Given the description of an element on the screen output the (x, y) to click on. 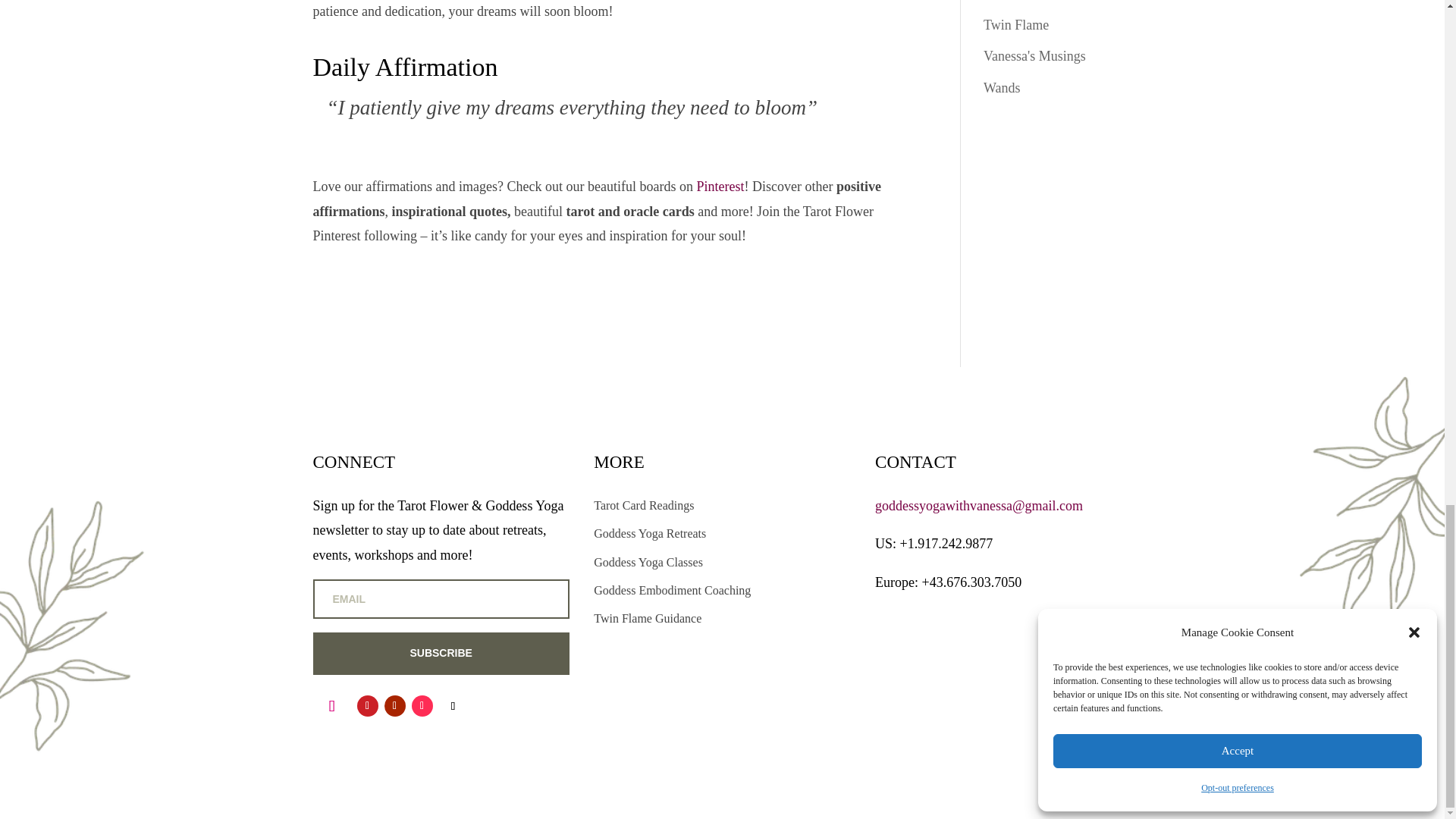
Follow on Instagram (331, 705)
Follow on TikTok (421, 705)
Follow on Facebook (452, 705)
Follow on Pinterest (366, 705)
Follow on Youtube (394, 705)
tarot flower logo (1003, 688)
